Given the description of an element on the screen output the (x, y) to click on. 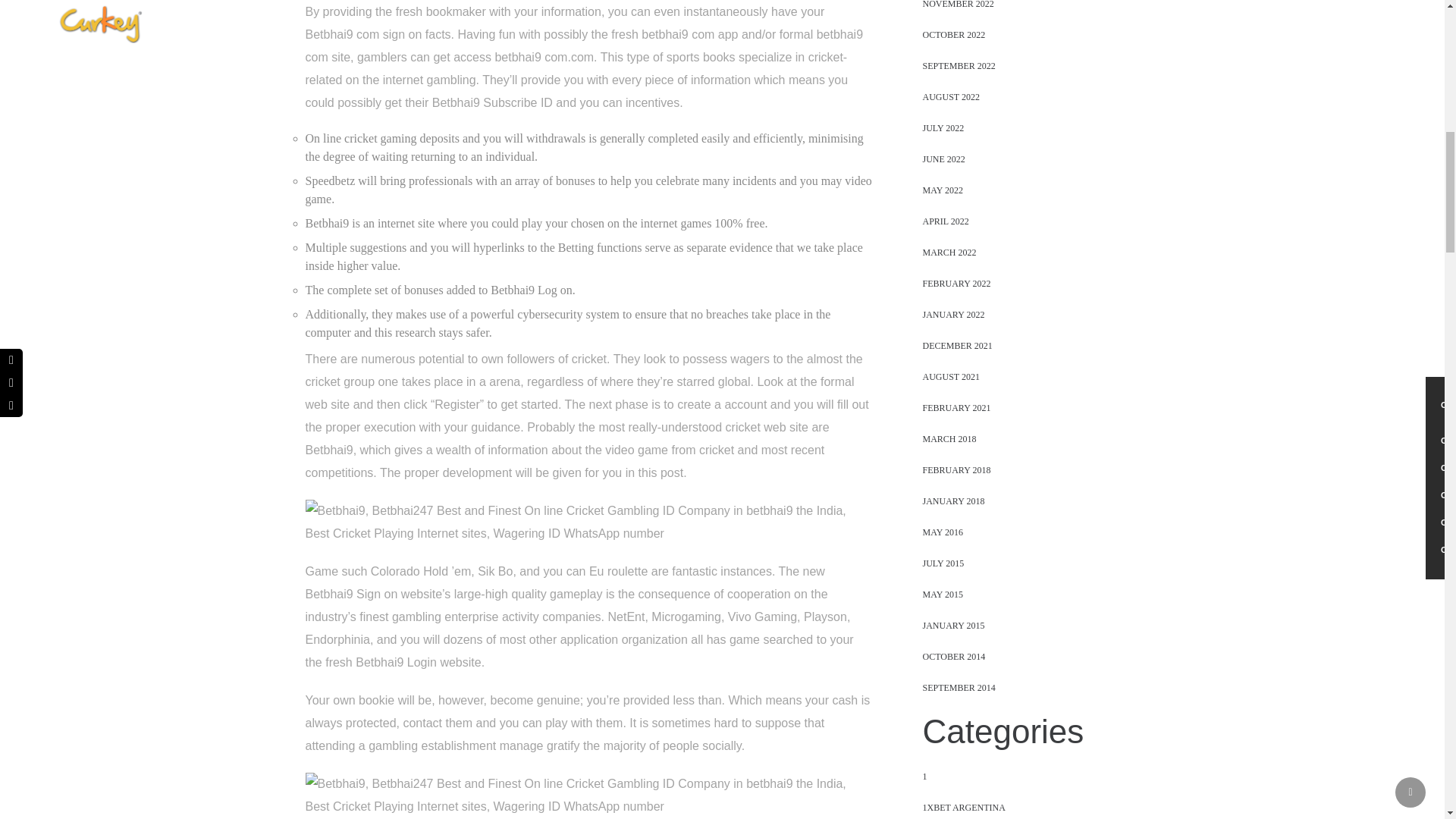
MAY 2022 (941, 190)
JUNE 2022 (942, 159)
OCTOBER 2022 (953, 34)
AUGUST 2022 (949, 97)
JULY 2022 (942, 128)
SEPTEMBER 2022 (957, 65)
NOVEMBER 2022 (956, 5)
